Given the description of an element on the screen output the (x, y) to click on. 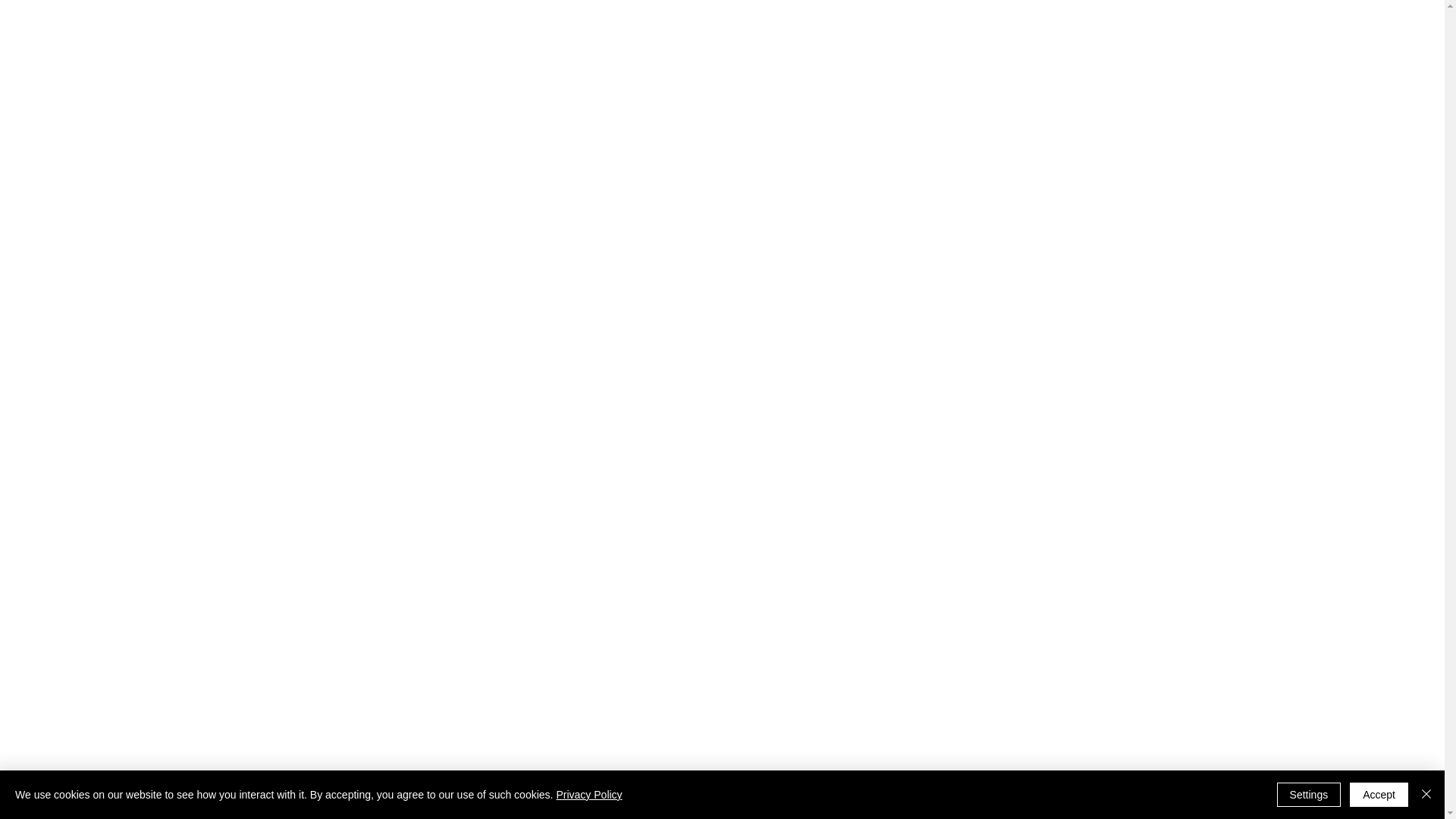
Settings (1308, 794)
Privacy Policy (588, 794)
Accept (1378, 794)
